Given the description of an element on the screen output the (x, y) to click on. 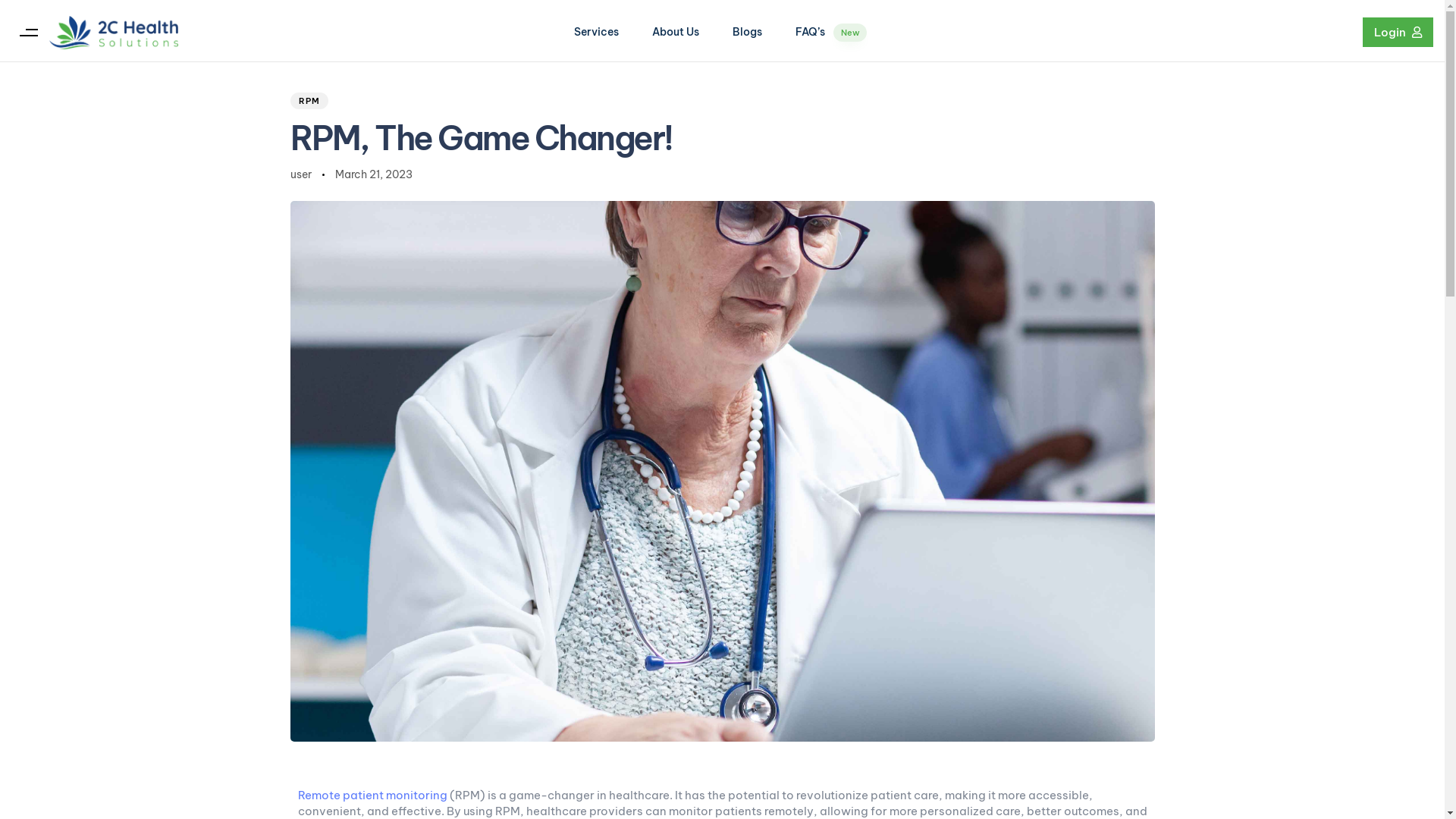
Terms of use Element type: text (1060, 614)
RPM Element type: text (308, 100)
Remote patient monitoring Element type: text (371, 794)
Privacy Policy Element type: text (972, 614)
Services Element type: text (596, 31)
Blogs Element type: text (746, 31)
About Us Element type: text (675, 31)
L
o
g
i
n Element type: text (1397, 32)
March 21, 2023 Element type: text (373, 174)
Sitemap Element type: text (1130, 614)
user Element type: text (299, 174)
